Given the description of an element on the screen output the (x, y) to click on. 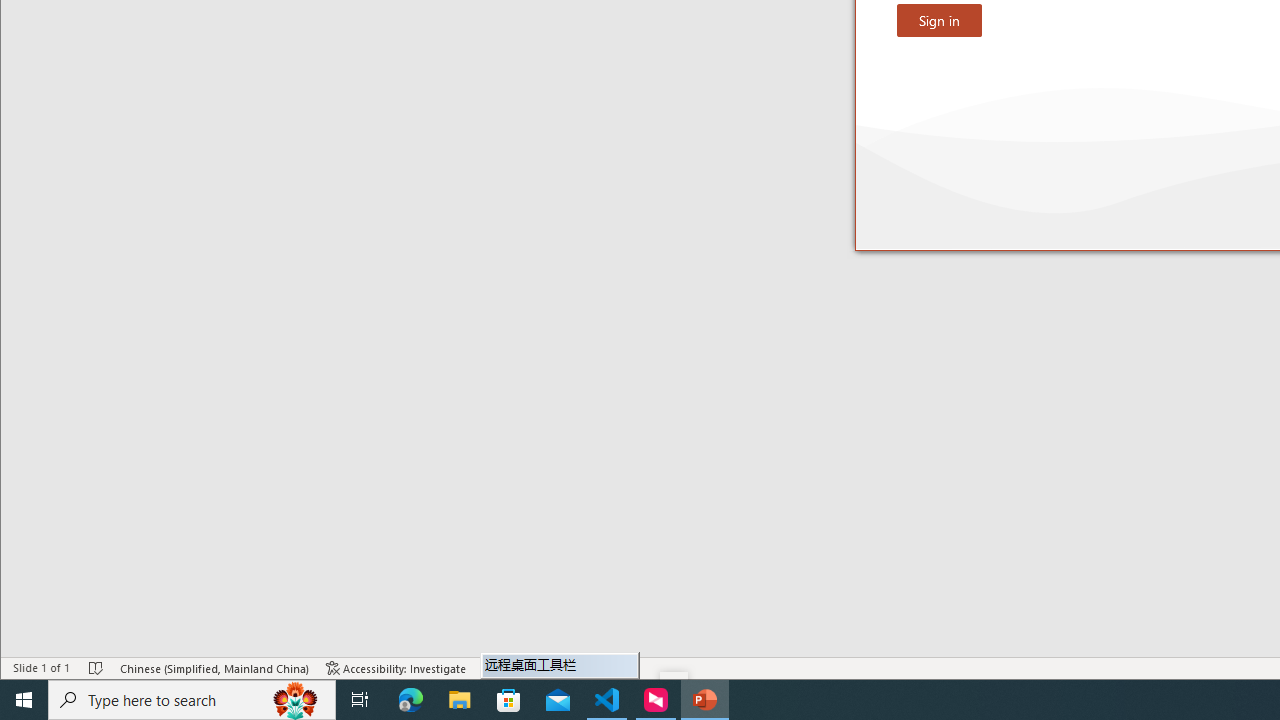
Sign in (939, 20)
Microsoft Edge (411, 699)
